Given the description of an element on the screen output the (x, y) to click on. 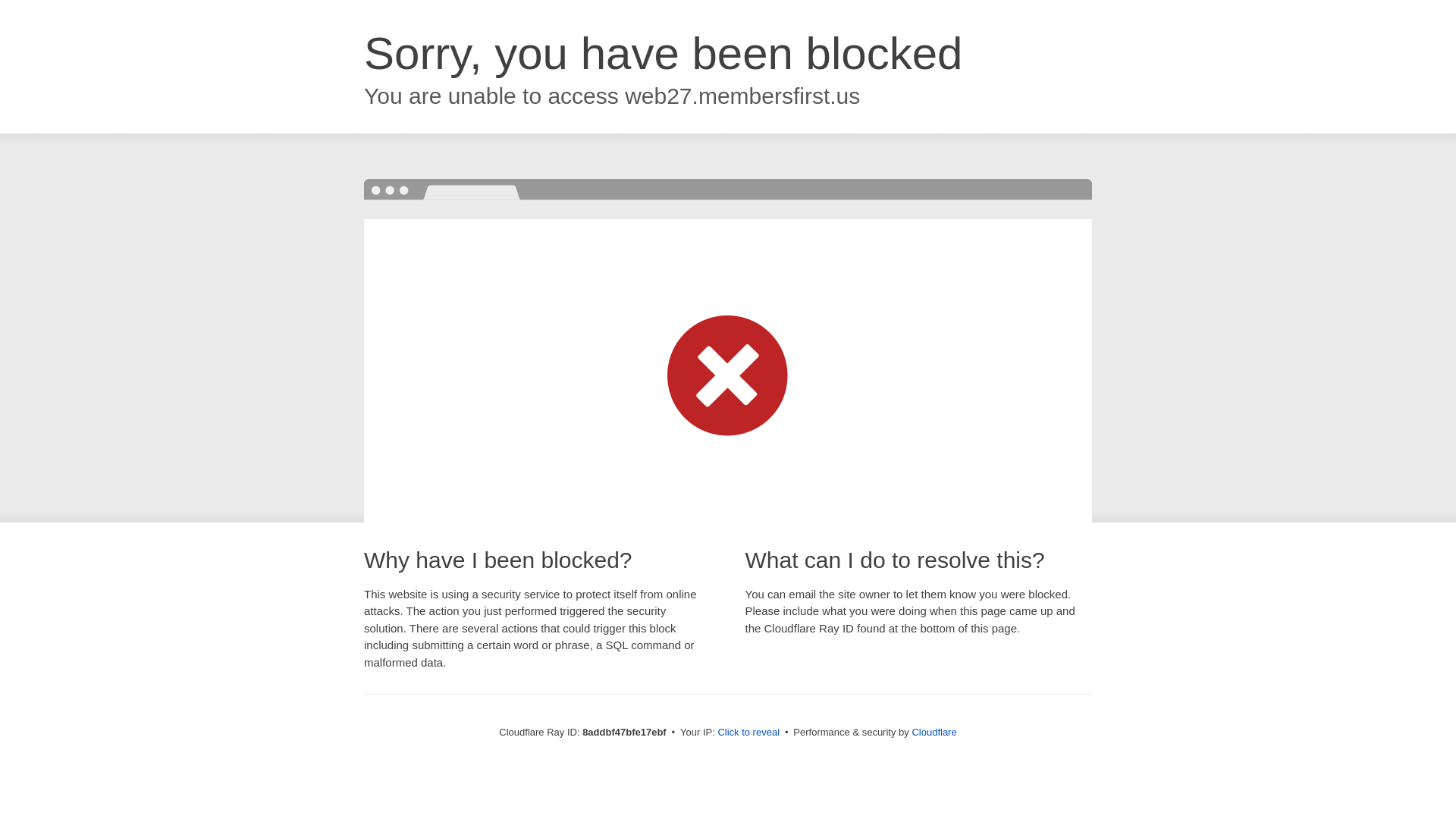
Click to reveal (747, 732)
Cloudflare (933, 731)
